Given the description of an element on the screen output the (x, y) to click on. 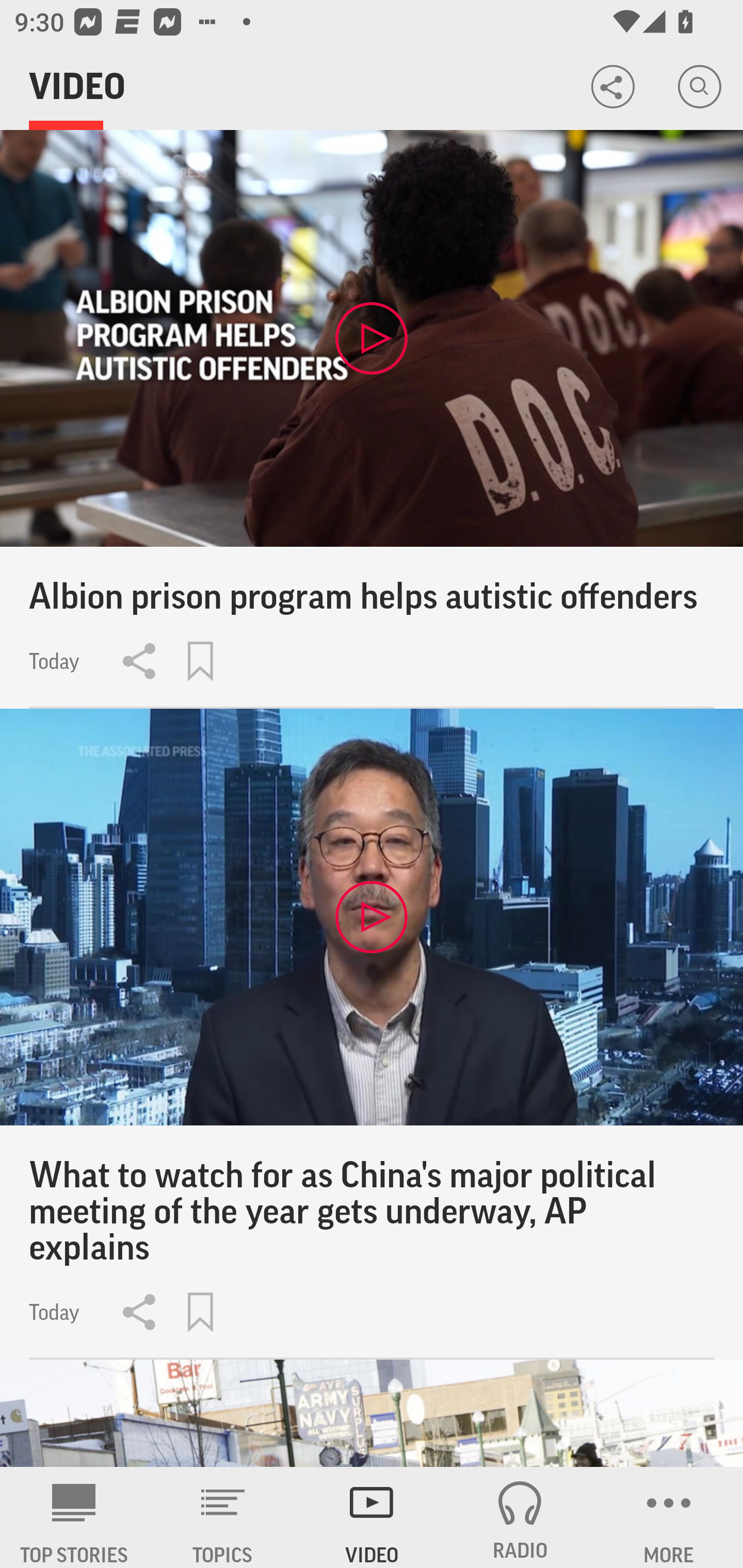
AP News TOP STORIES (74, 1517)
TOPICS (222, 1517)
VIDEO (371, 1517)
RADIO (519, 1517)
MORE (668, 1517)
